Given the description of an element on the screen output the (x, y) to click on. 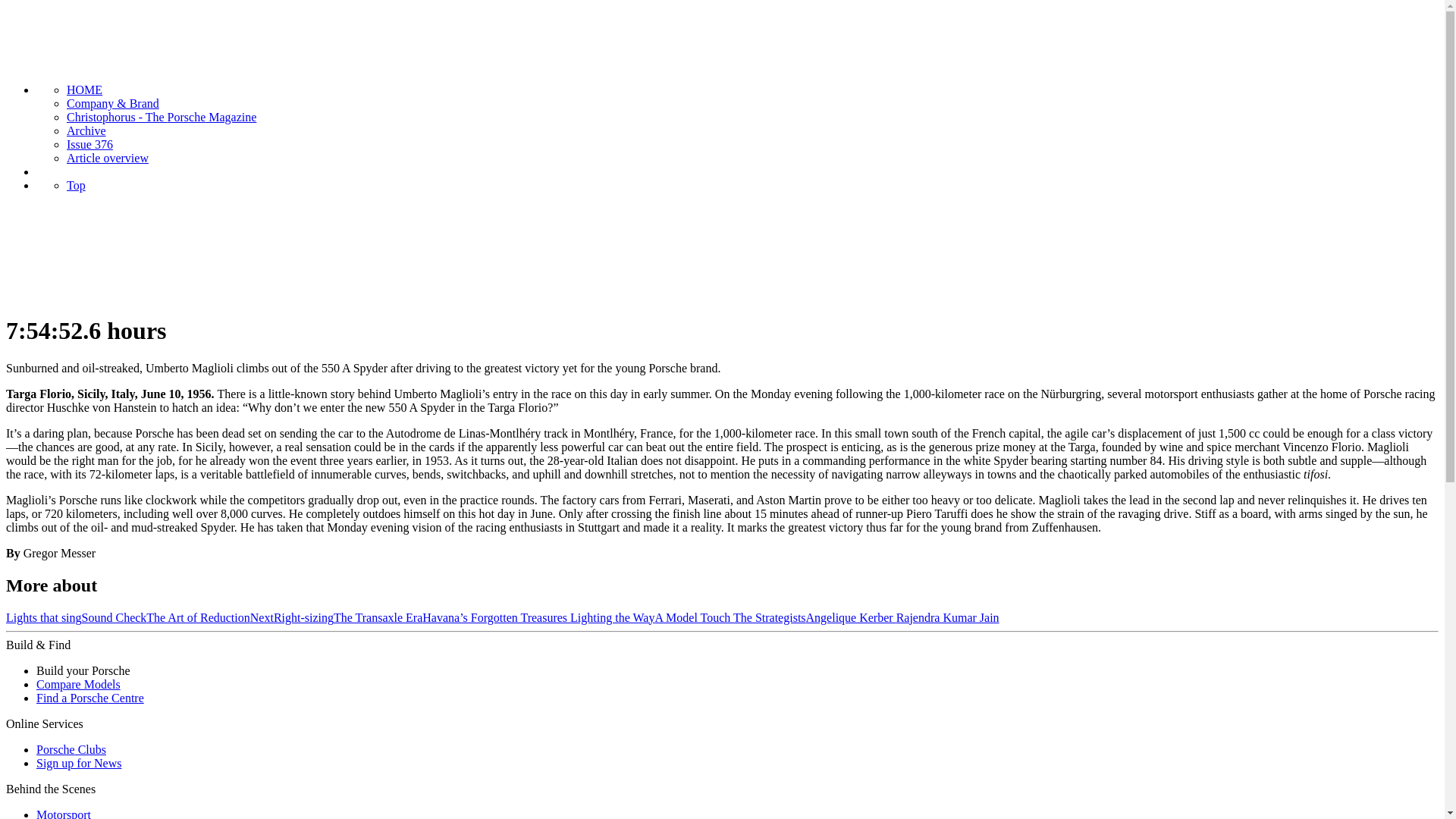
Sign up for News (78, 762)
Porsche Clubs (71, 748)
Right-sizing (303, 617)
Lighting the Way (611, 617)
Build your Porsche (83, 670)
The Art of Reduction (197, 617)
Angelique Kerber (851, 617)
Motorsport (63, 813)
Next (261, 617)
The Strategists (769, 617)
The Transaxle Era (377, 617)
Lights that sing (43, 617)
Find a Porsche Centre (90, 697)
A Model Touch (693, 617)
Rajendra Kumar Jain (947, 617)
